Given the description of an element on the screen output the (x, y) to click on. 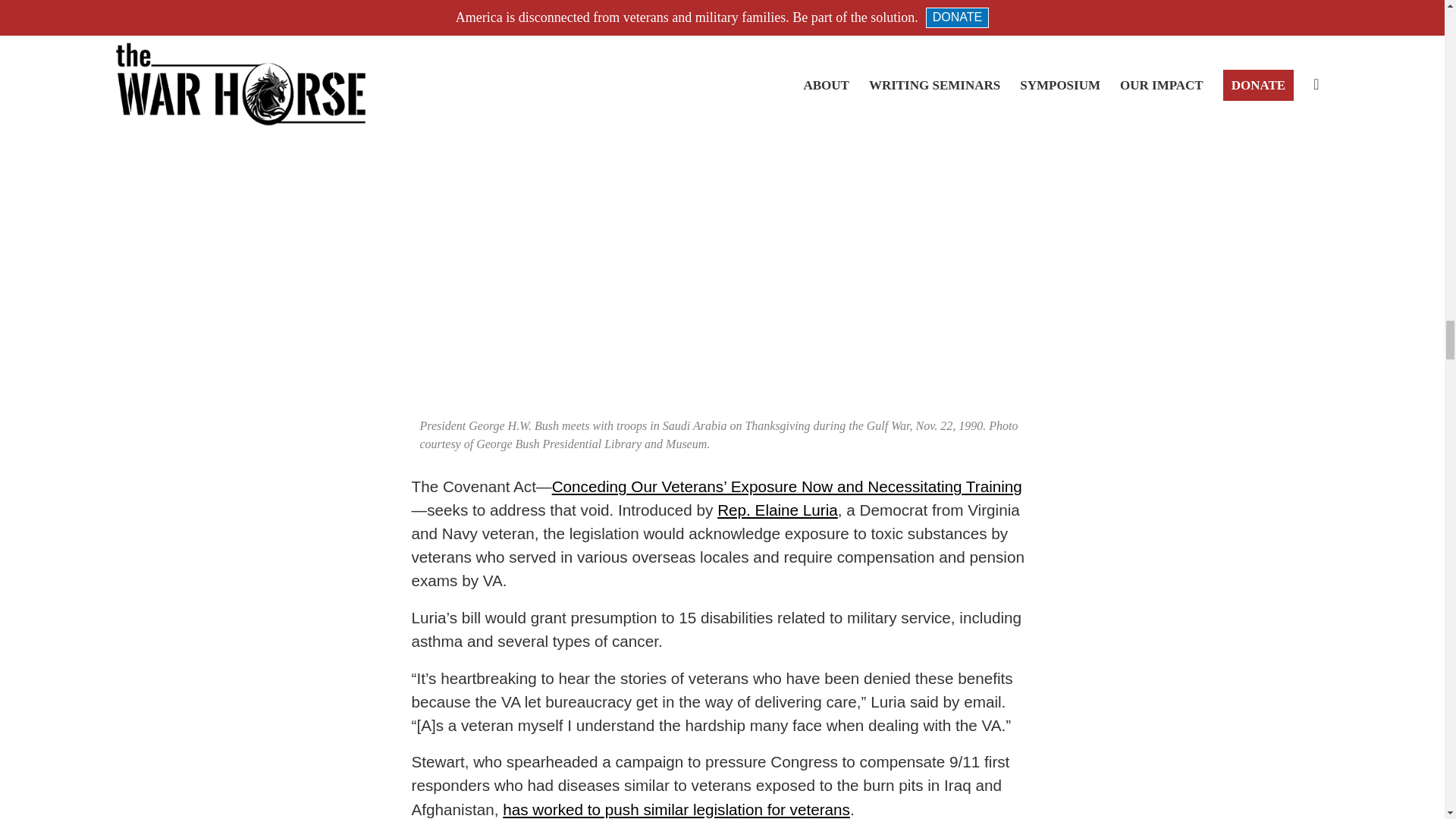
Rep. Elaine Luria (777, 509)
